Given the description of an element on the screen output the (x, y) to click on. 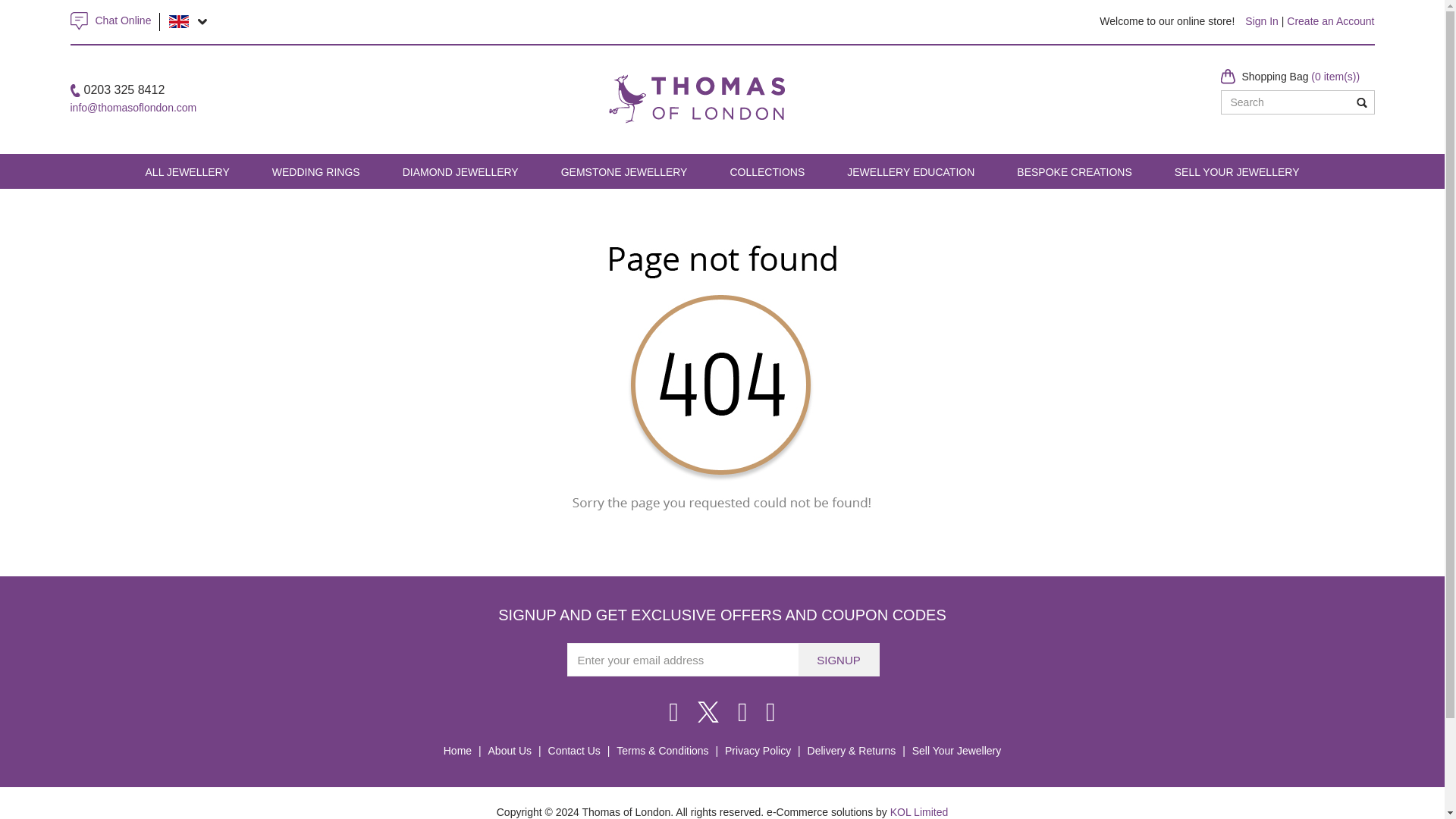
Create an Account (1330, 21)
signup (838, 659)
Create an Account (1330, 21)
Thomas of London (696, 80)
Chat Online (123, 20)
My Bag (1300, 76)
GBP (178, 21)
Sign In (1261, 21)
Sign In (1261, 21)
